Given the description of an element on the screen output the (x, y) to click on. 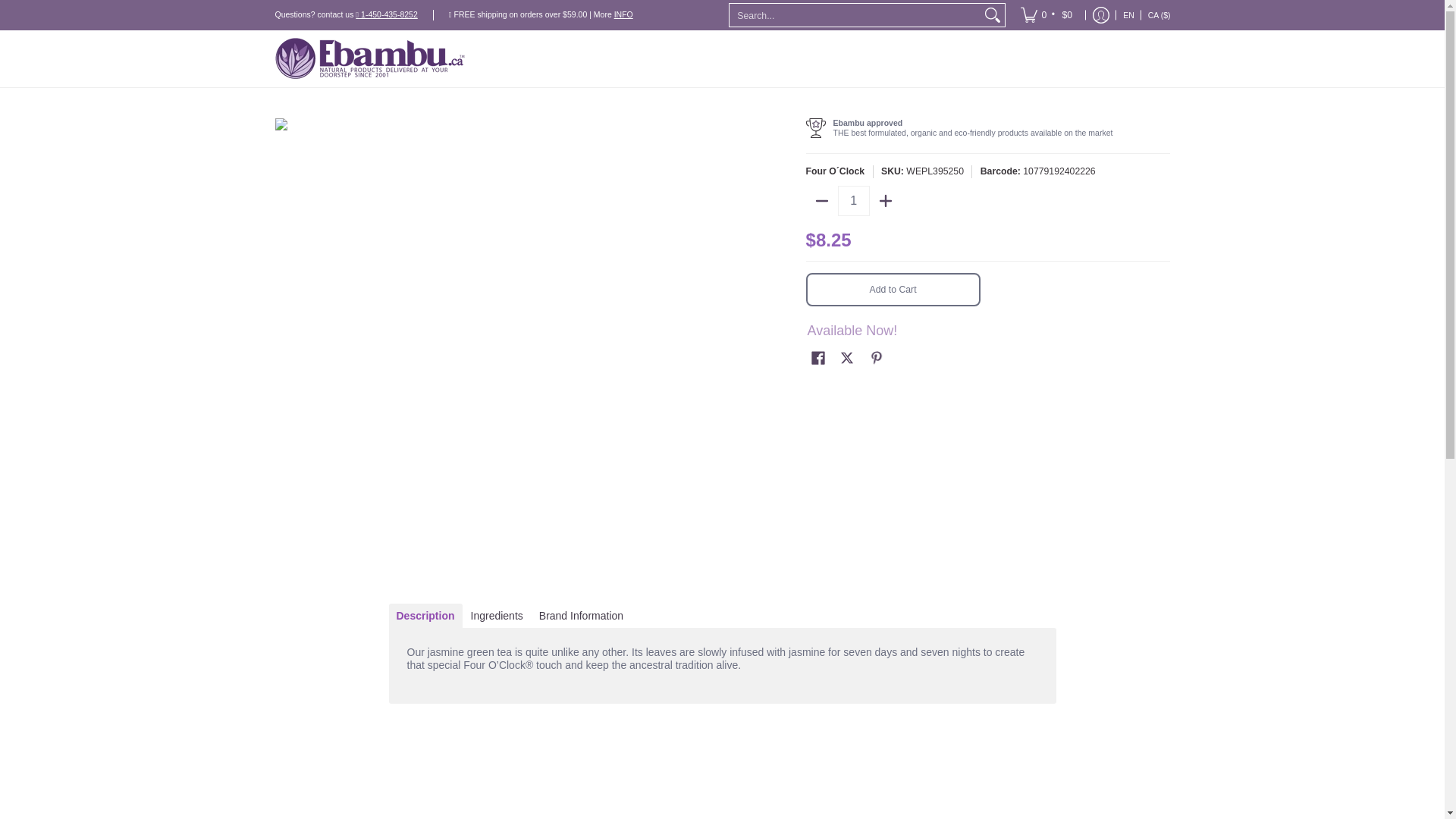
INFO (623, 13)
Skip to Main Content (2, 9)
Skip to Main Content (2, 9)
1 (853, 200)
Ebambu.ca (369, 58)
Log in (1101, 15)
EN (1128, 15)
Cart (1047, 15)
